Given the description of an element on the screen output the (x, y) to click on. 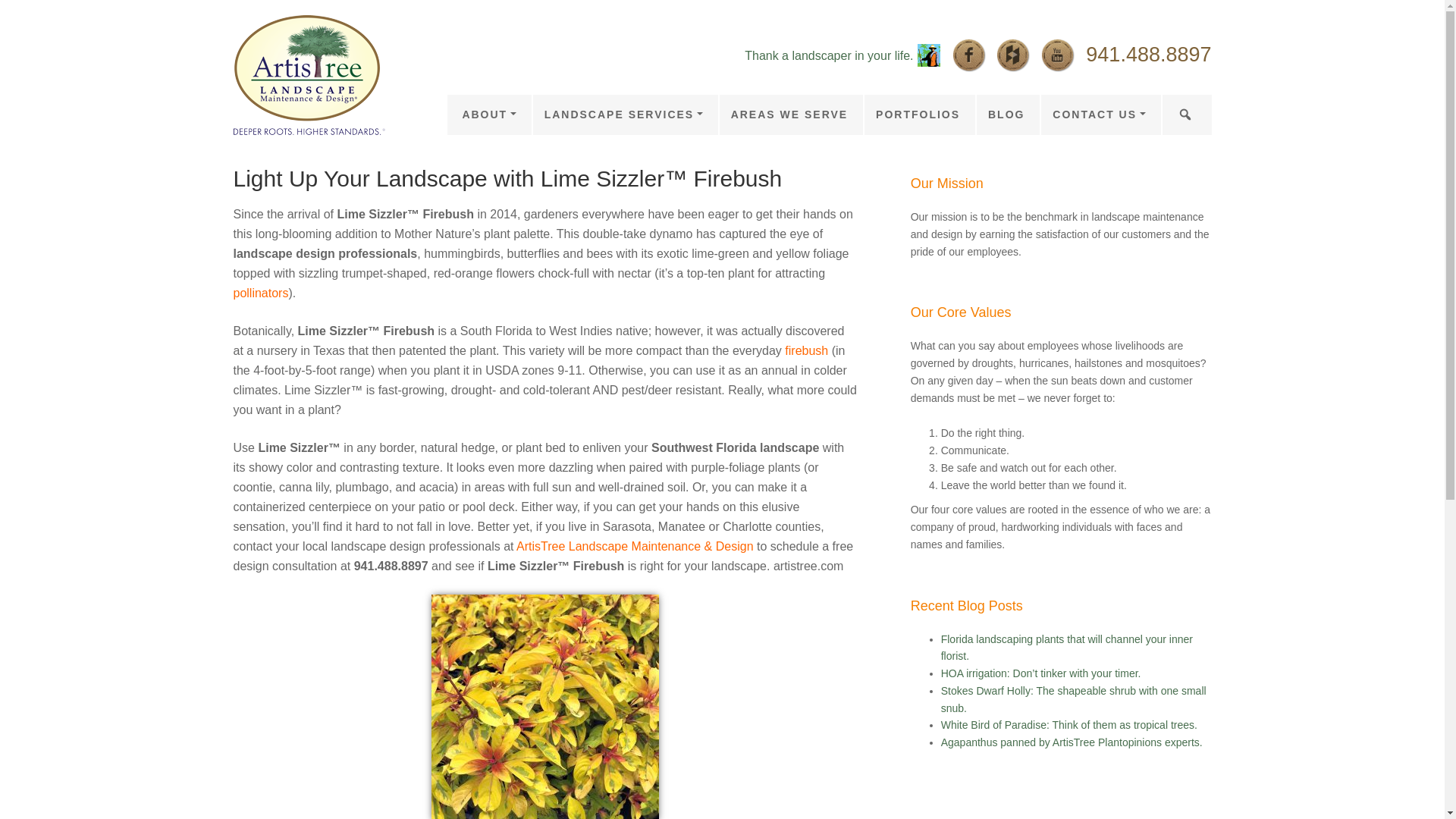
AREAS WE SERVE (788, 115)
941.488.8897 (1148, 54)
BLOG (1005, 115)
CONTACT US (1097, 115)
Thank a landscaper in your life. (828, 54)
PORTFOLIOS (917, 115)
ABOUT (488, 115)
LANDSCAPE SERVICES (622, 115)
